Given the description of an element on the screen output the (x, y) to click on. 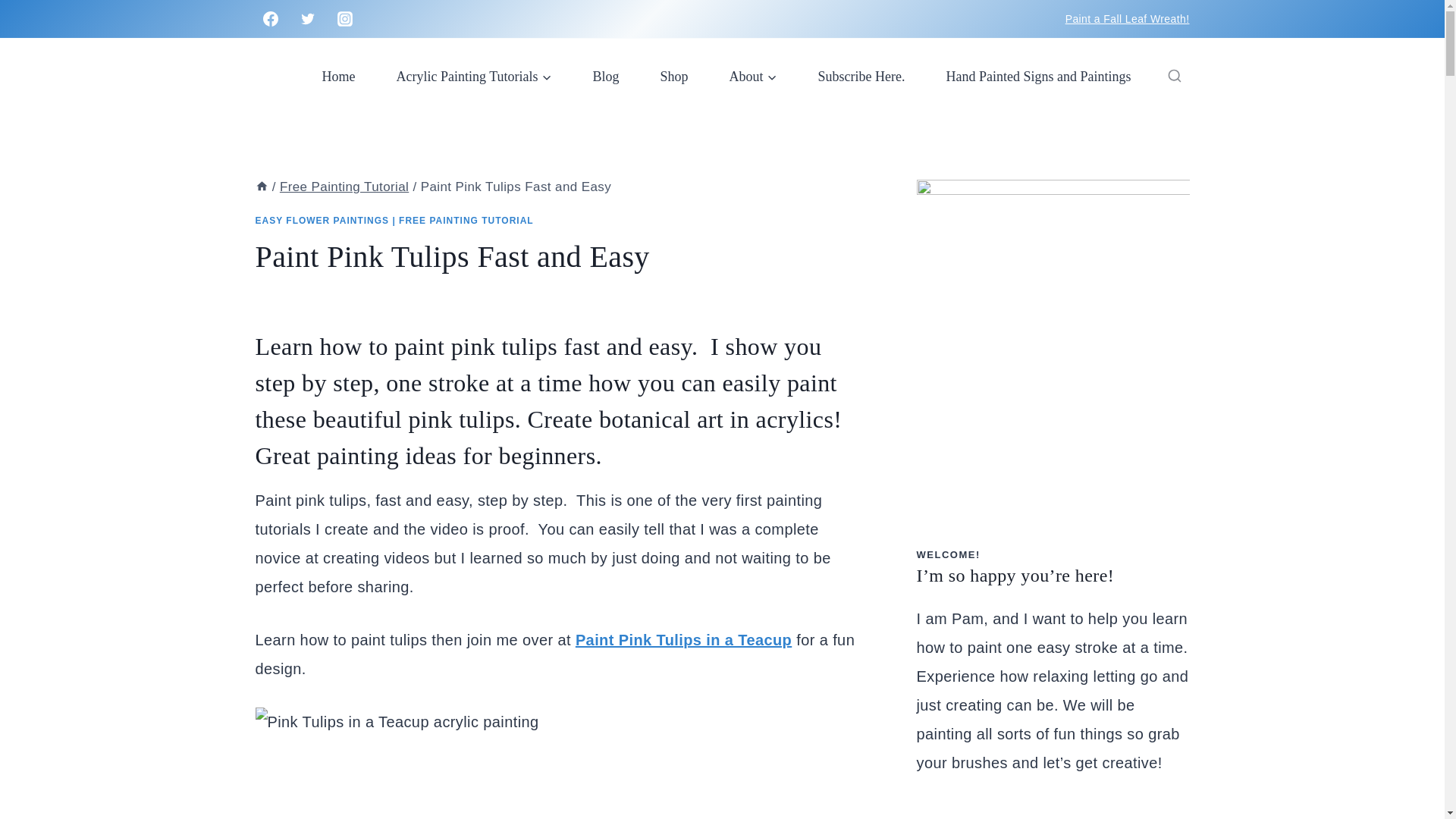
Home (338, 76)
Paint a Fall Leaf Wreath! (1127, 19)
Blog (605, 76)
Hand Painted Signs and Paintings (1037, 76)
Acrylic Painting Tutorials (473, 76)
EASY FLOWER PAINTINGS (321, 220)
Free Painting Tutorial (344, 186)
Subscribe Here. (861, 76)
Shop (674, 76)
FREE PAINTING TUTORIAL (466, 220)
